Given the description of an element on the screen output the (x, y) to click on. 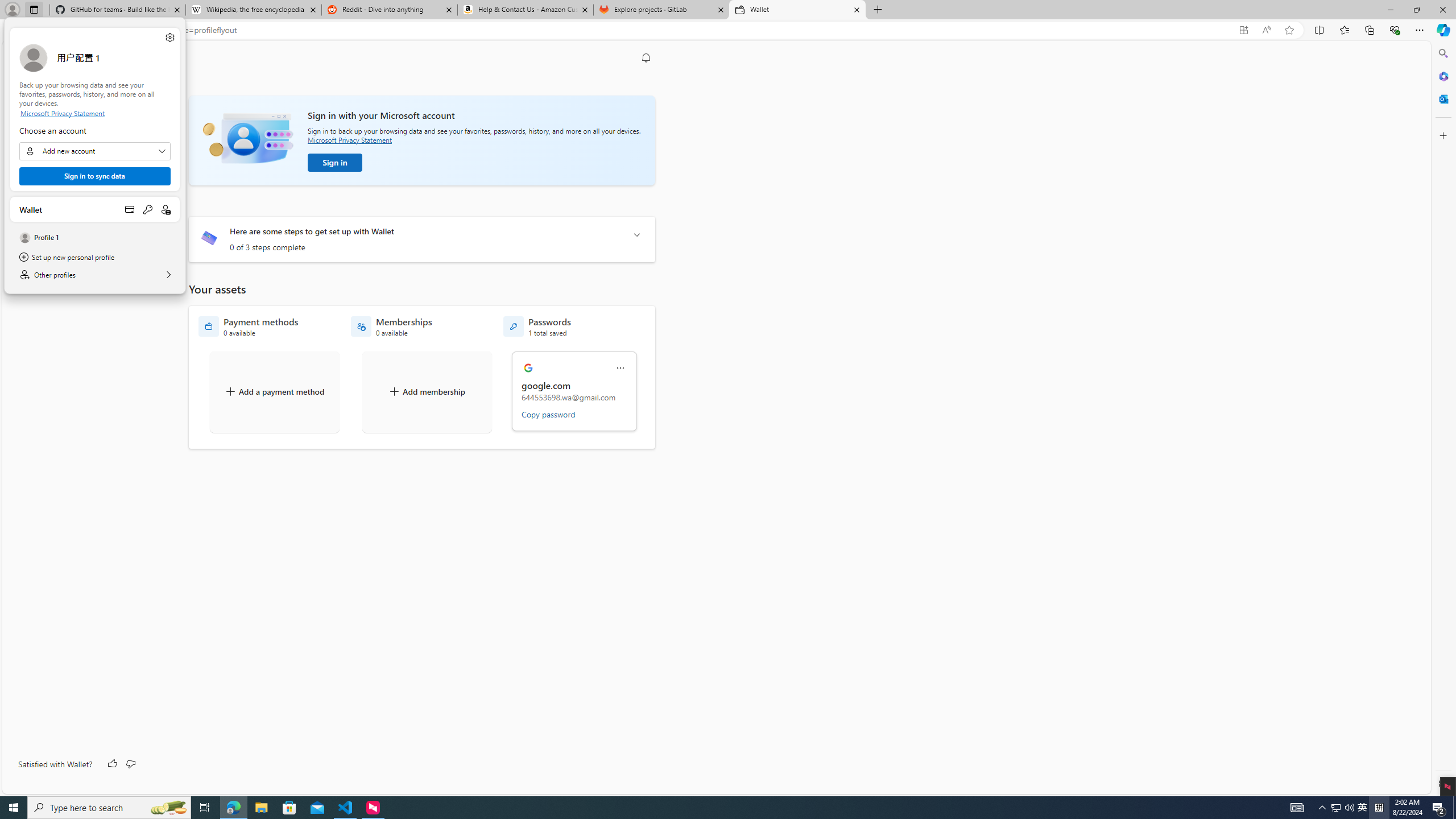
Type here to search (108, 807)
Profile 1 (94, 237)
Microsoft Edge - 1 running window (233, 807)
Q2790: 100% (1349, 807)
Wallet (797, 9)
Search highlights icon opens search home window (167, 807)
Notification (646, 58)
Help & Contact Us - Amazon Customer Service (525, 9)
Show desktop (1454, 807)
